Given the description of an element on the screen output the (x, y) to click on. 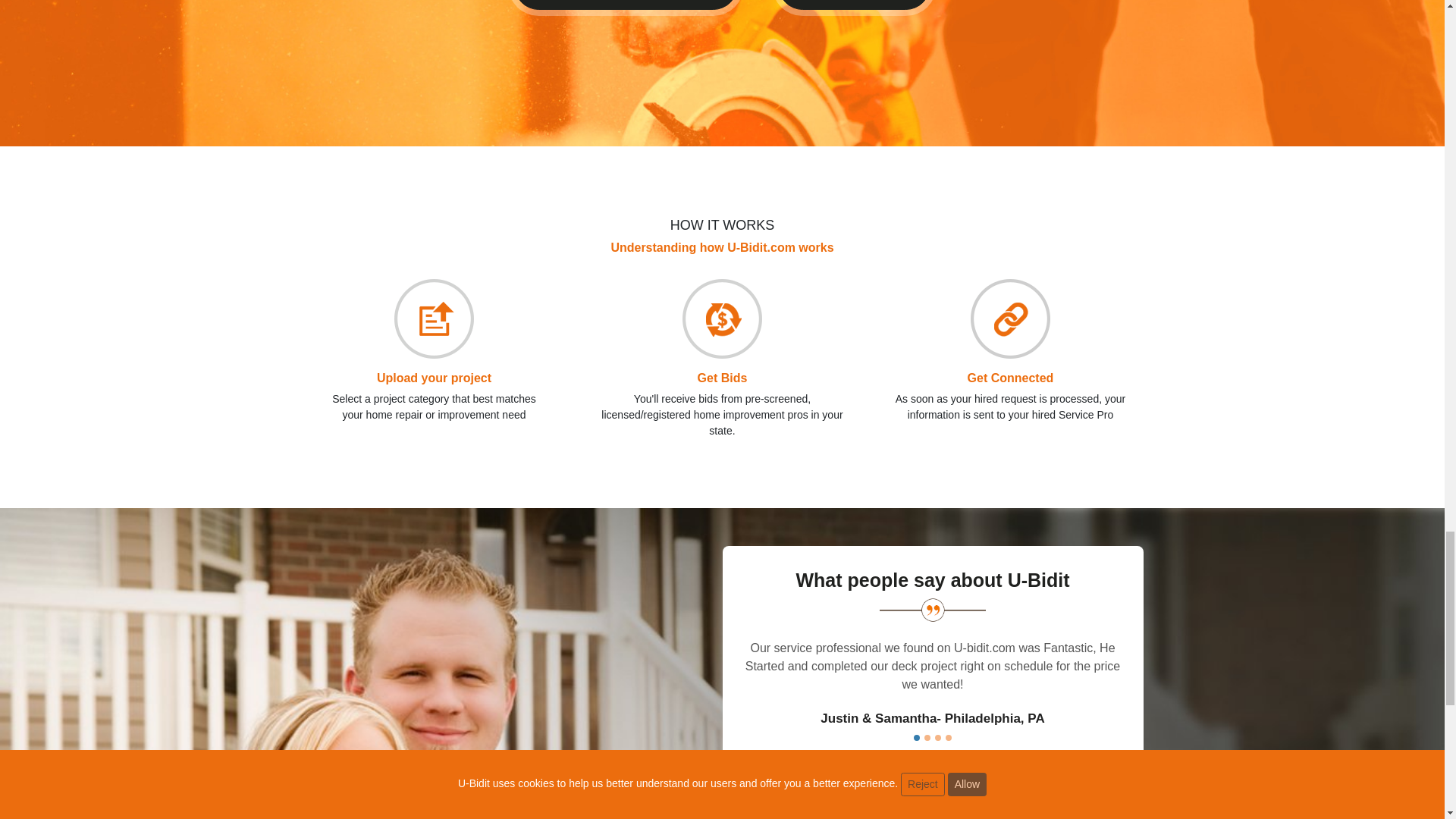
Post Your Project (853, 4)
Connect With Pros Directly (625, 4)
